Given the description of an element on the screen output the (x, y) to click on. 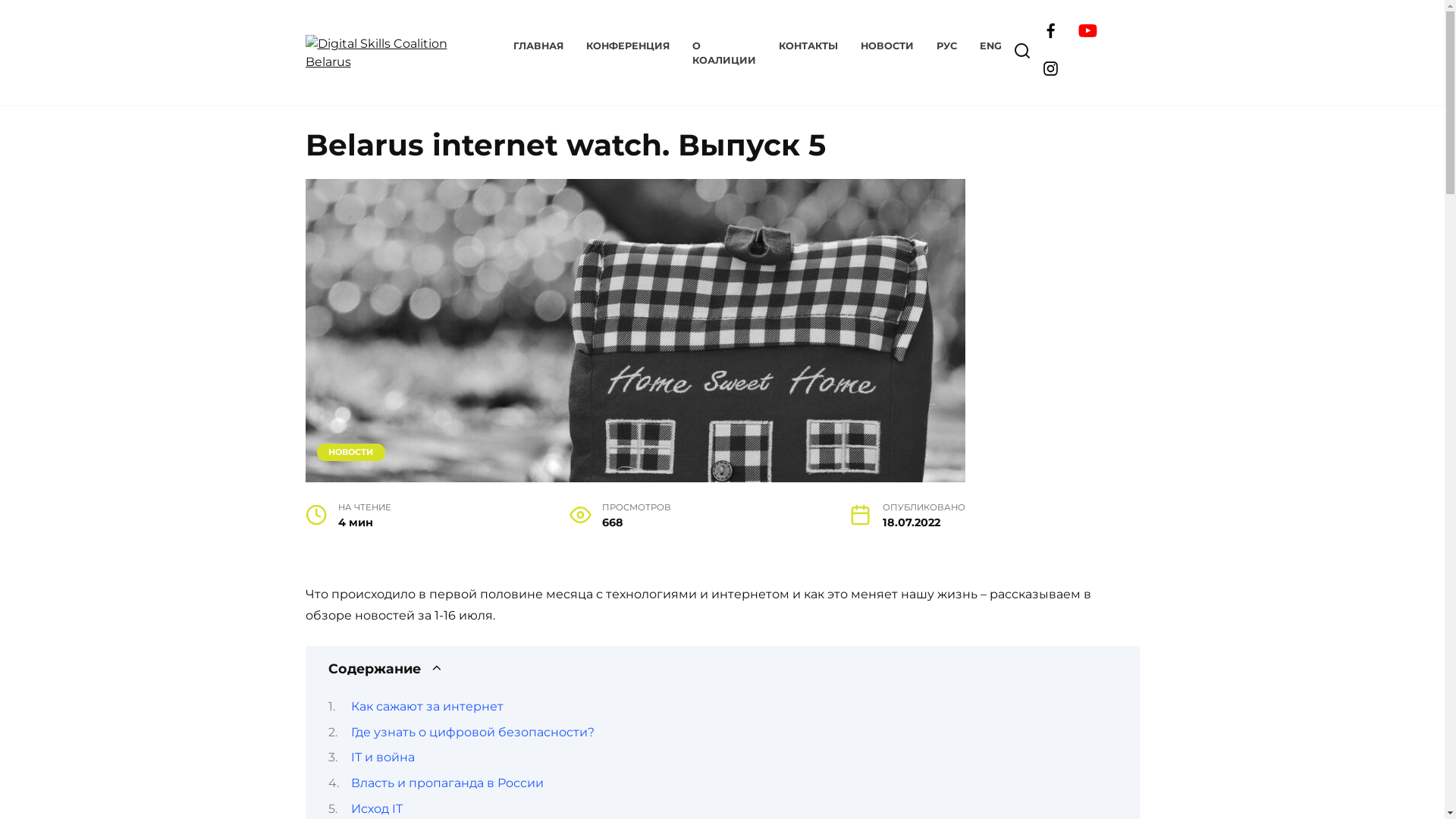
ENG Element type: text (990, 45)
